Given the description of an element on the screen output the (x, y) to click on. 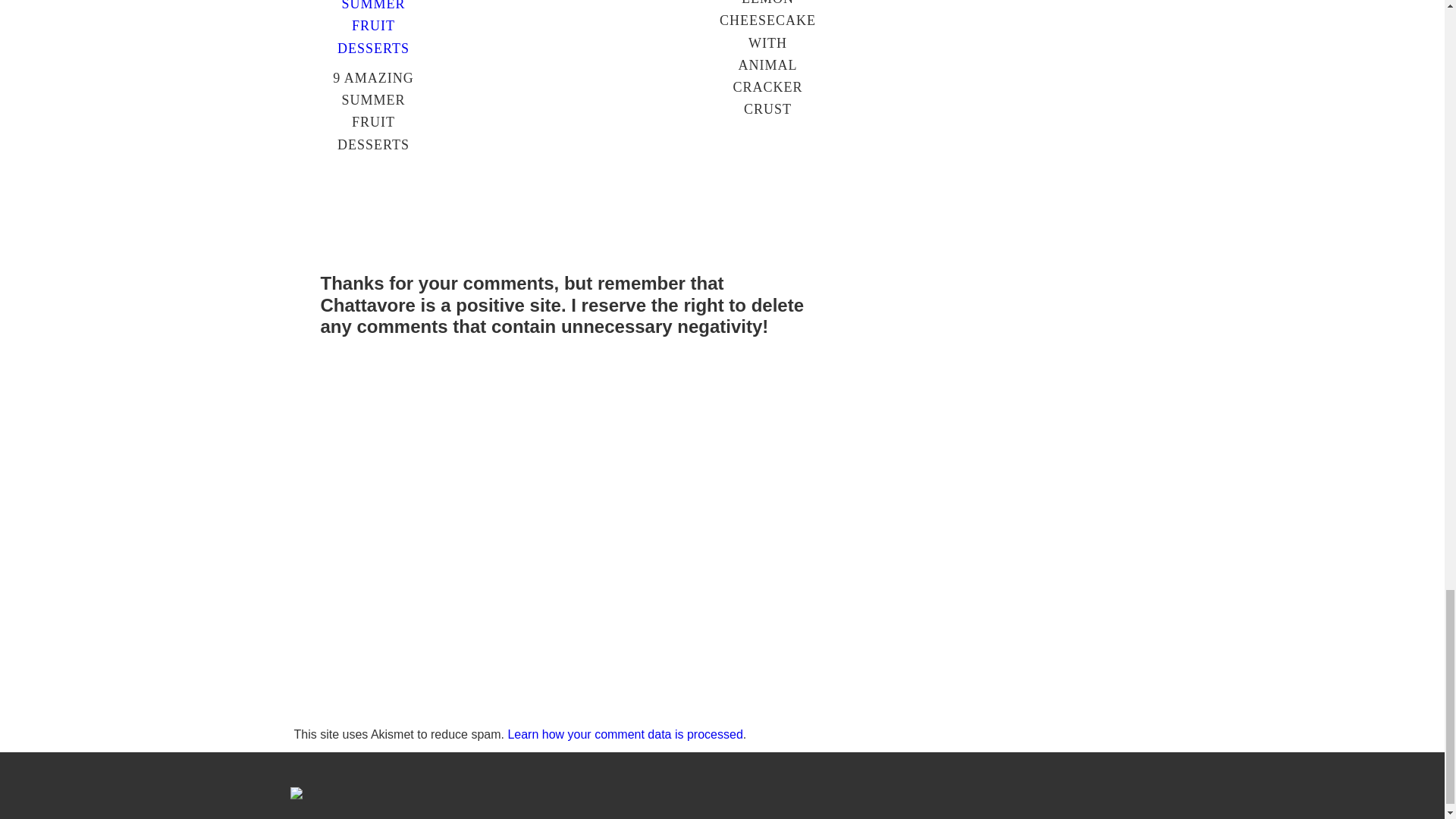
9 Amazing Summer Fruit Desserts (373, 48)
